Given the description of an element on the screen output the (x, y) to click on. 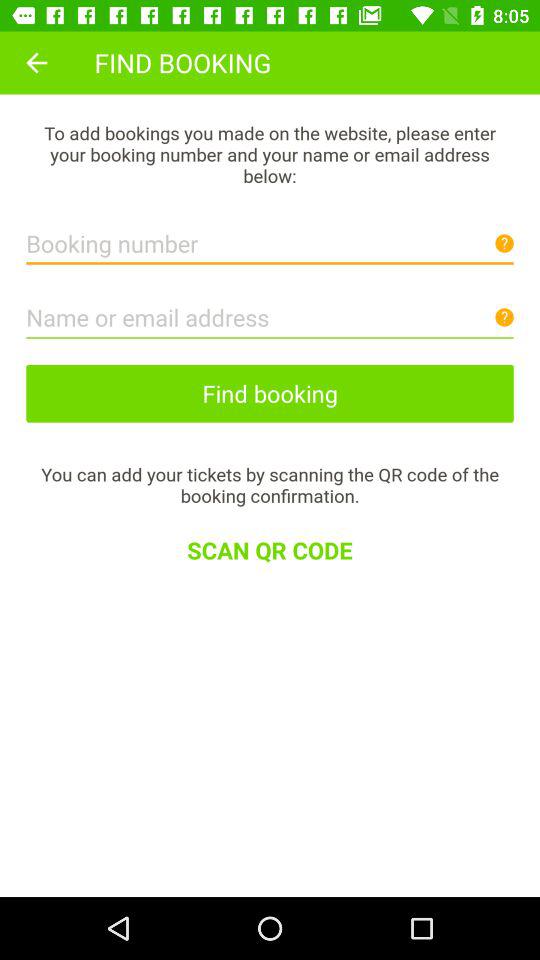
press the icon to the left of the find booking item (36, 62)
